Given the description of an element on the screen output the (x, y) to click on. 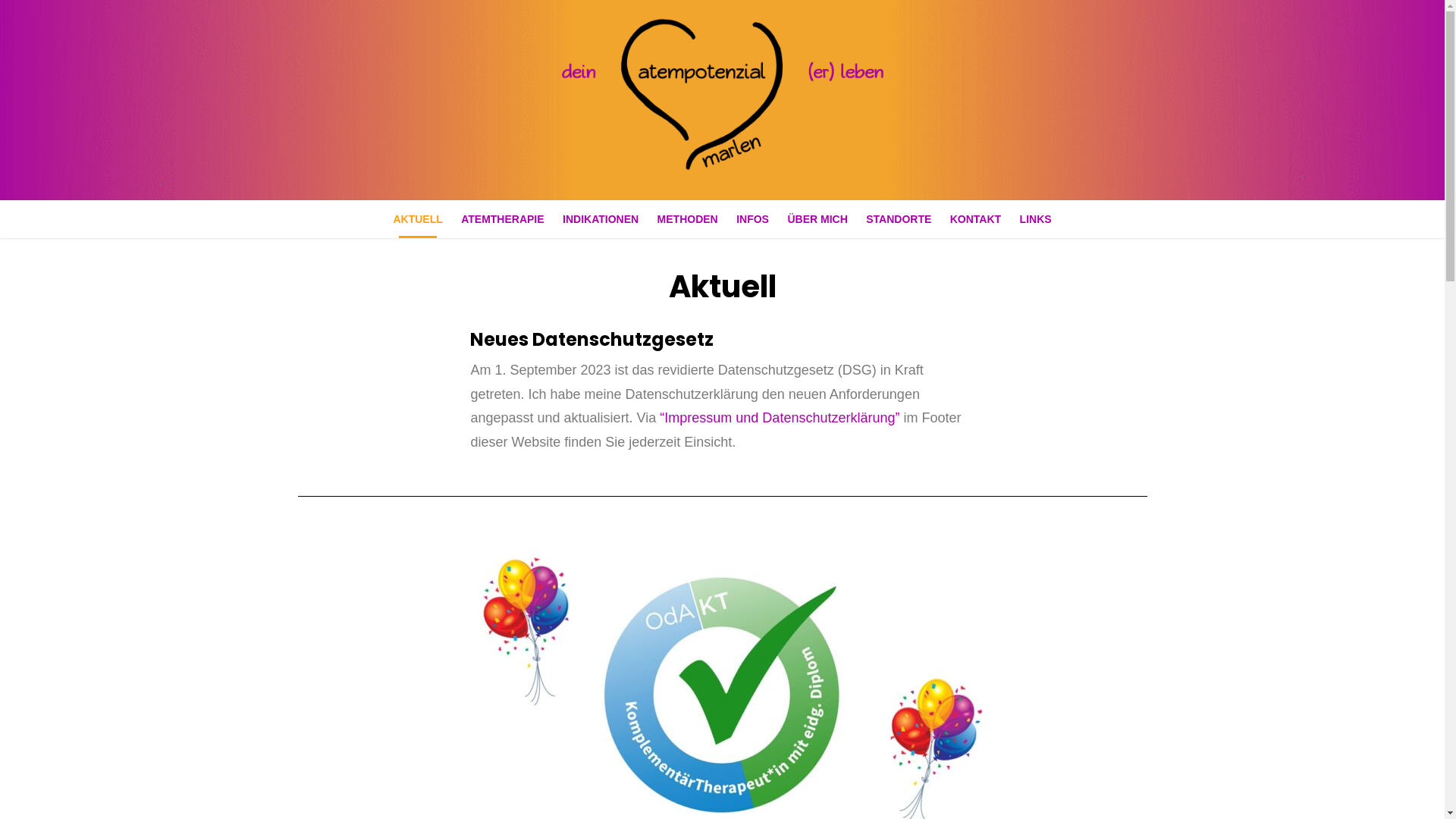
LINKS Element type: text (1035, 218)
METHODEN Element type: text (687, 218)
ATEMTHERAPIE Element type: text (502, 218)
INDIKATIONEN Element type: text (600, 218)
INFOS Element type: text (752, 218)
AKTUELL Element type: text (417, 218)
STANDORTE Element type: text (898, 218)
KONTAKT Element type: text (975, 218)
